Given the description of an element on the screen output the (x, y) to click on. 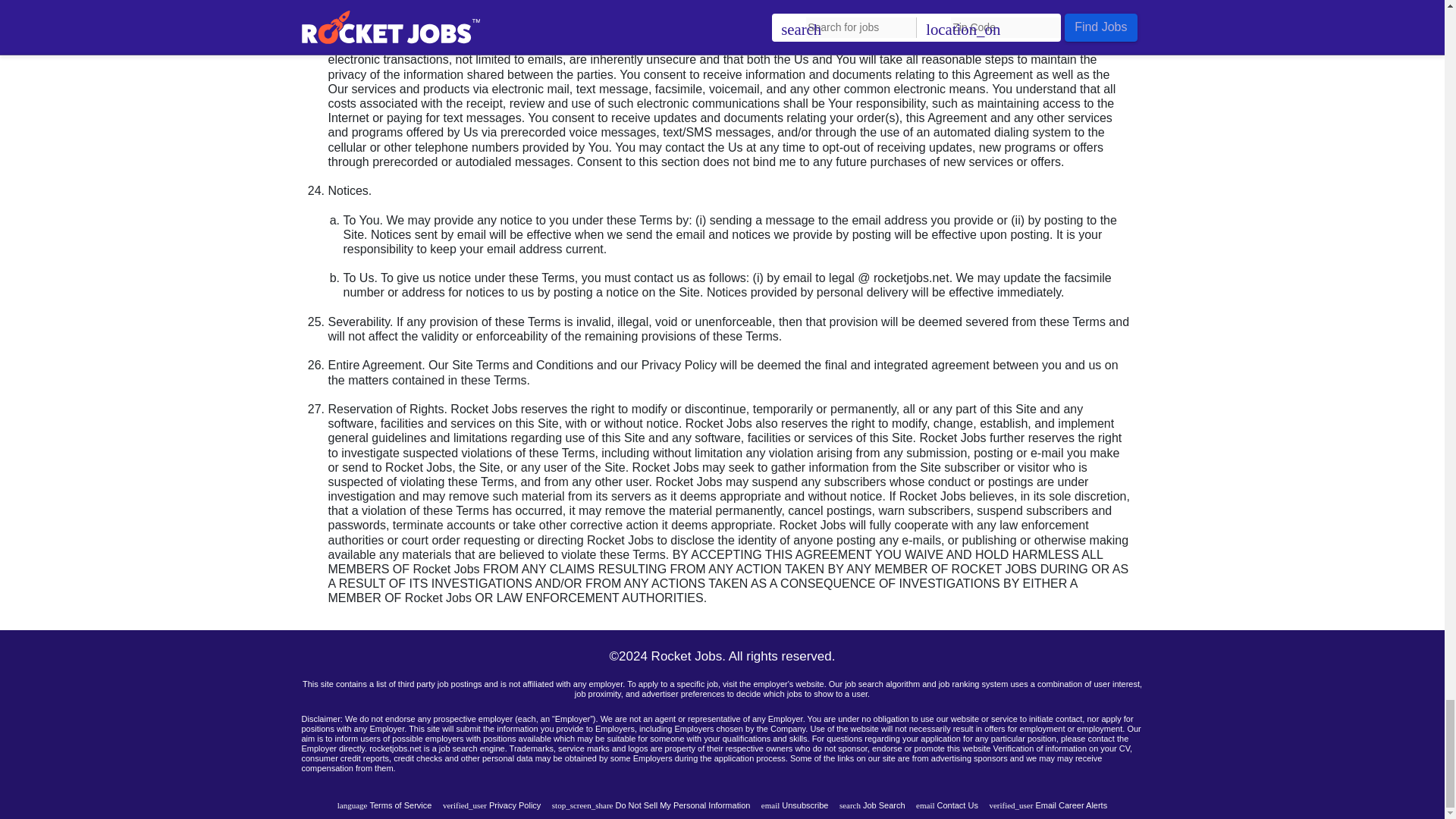
emailUnsubscribe (794, 804)
searchJob Search (872, 804)
languageTerms of Service (384, 804)
emailContact Us (946, 804)
